Given the description of an element on the screen output the (x, y) to click on. 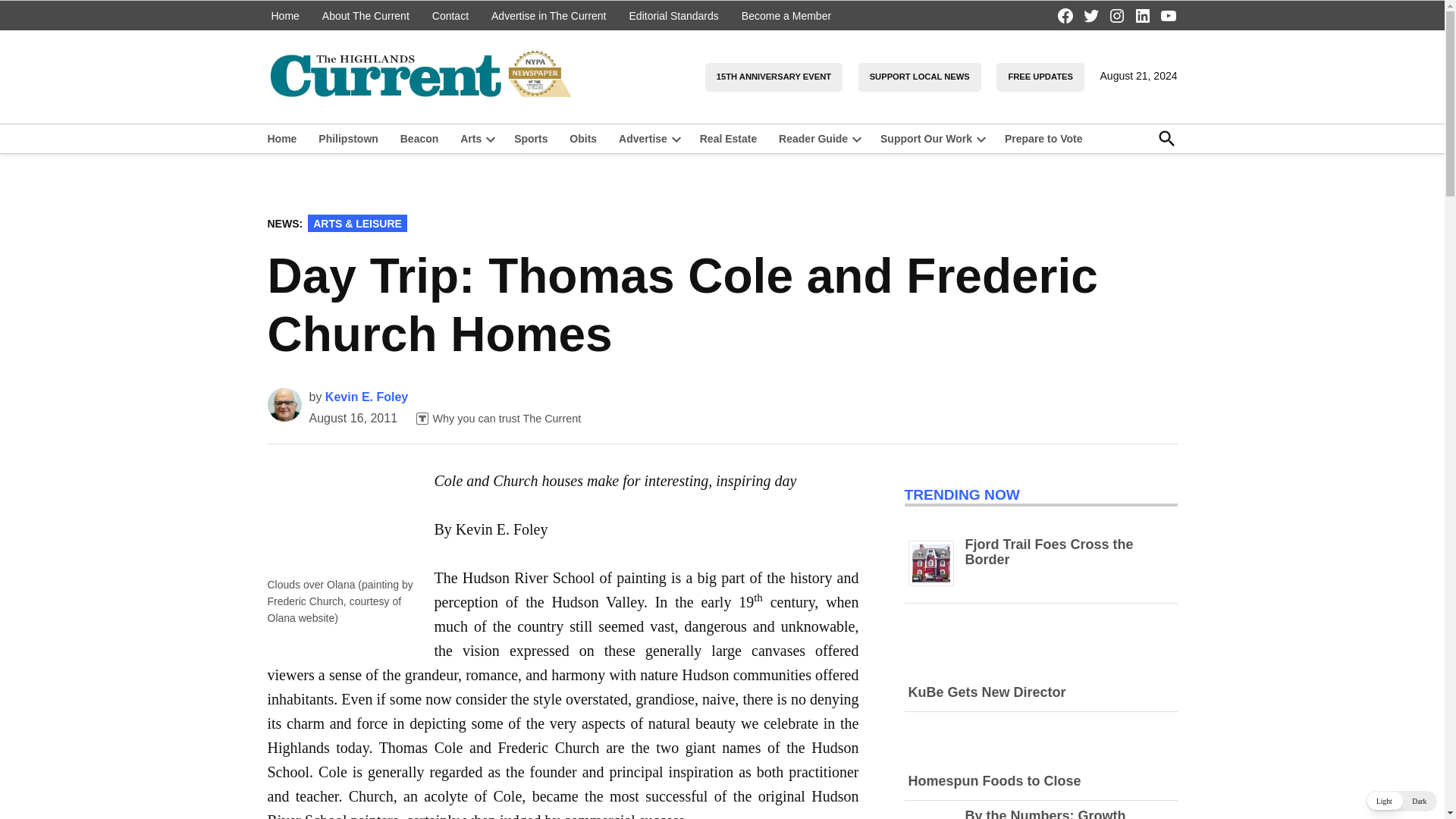
KuBe Gets New Director (986, 692)
Homespun Foods to Close (1040, 756)
By the Numbers: Growth Factors (1044, 813)
Homespun Foods to Close (994, 780)
KuBe Gets New Director (1040, 666)
Fjord Trail Foes Cross the Border (936, 585)
Fjord Trail Foes Cross the Border (1047, 552)
